Given the description of an element on the screen output the (x, y) to click on. 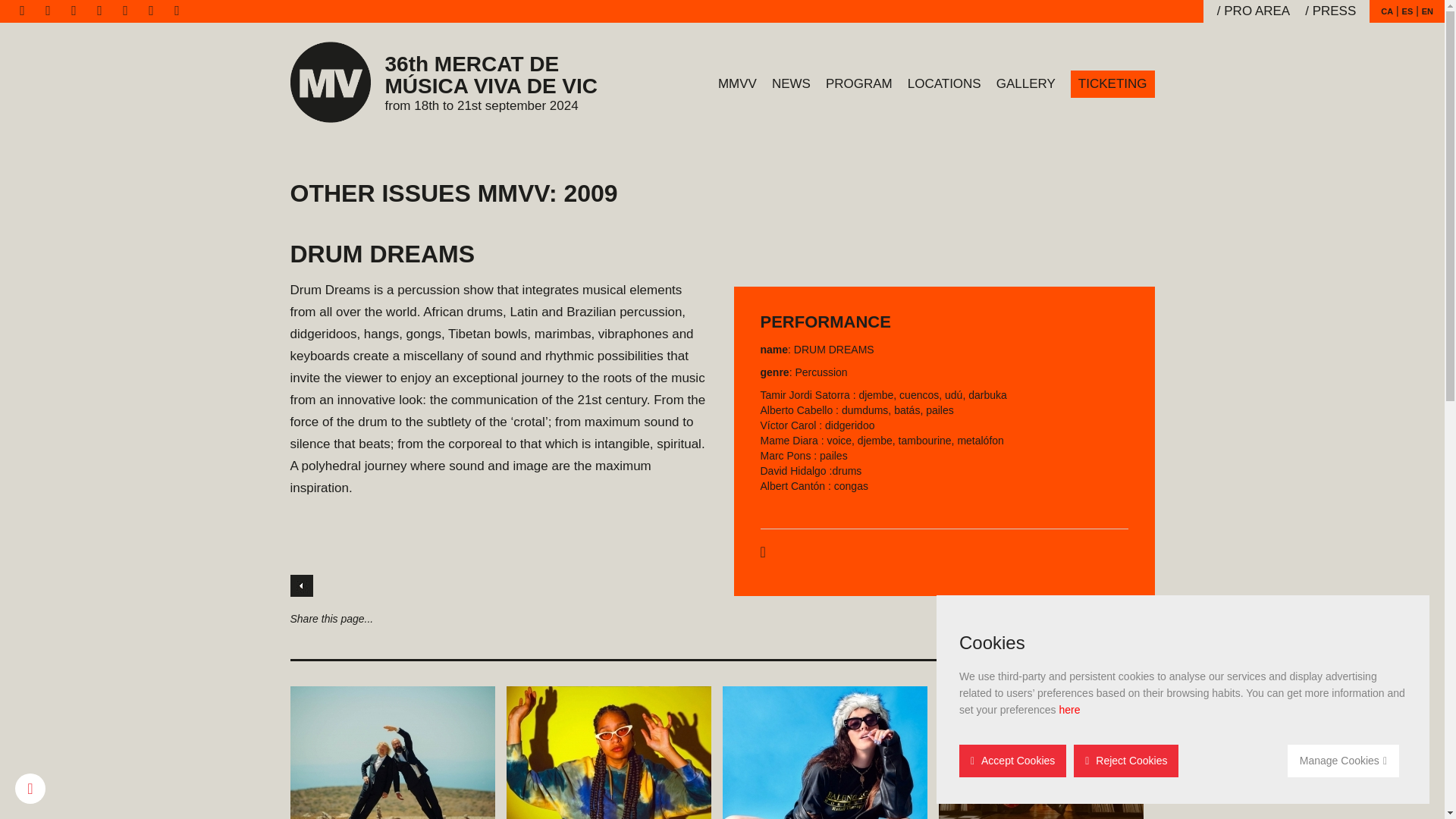
TICKETING (1112, 83)
CA (1386, 10)
MMVV (737, 83)
NEWS (791, 83)
ES (1407, 10)
PROGRAM (858, 83)
EN (1427, 10)
LOCATIONS (943, 83)
GALLERY (1025, 83)
